Given the description of an element on the screen output the (x, y) to click on. 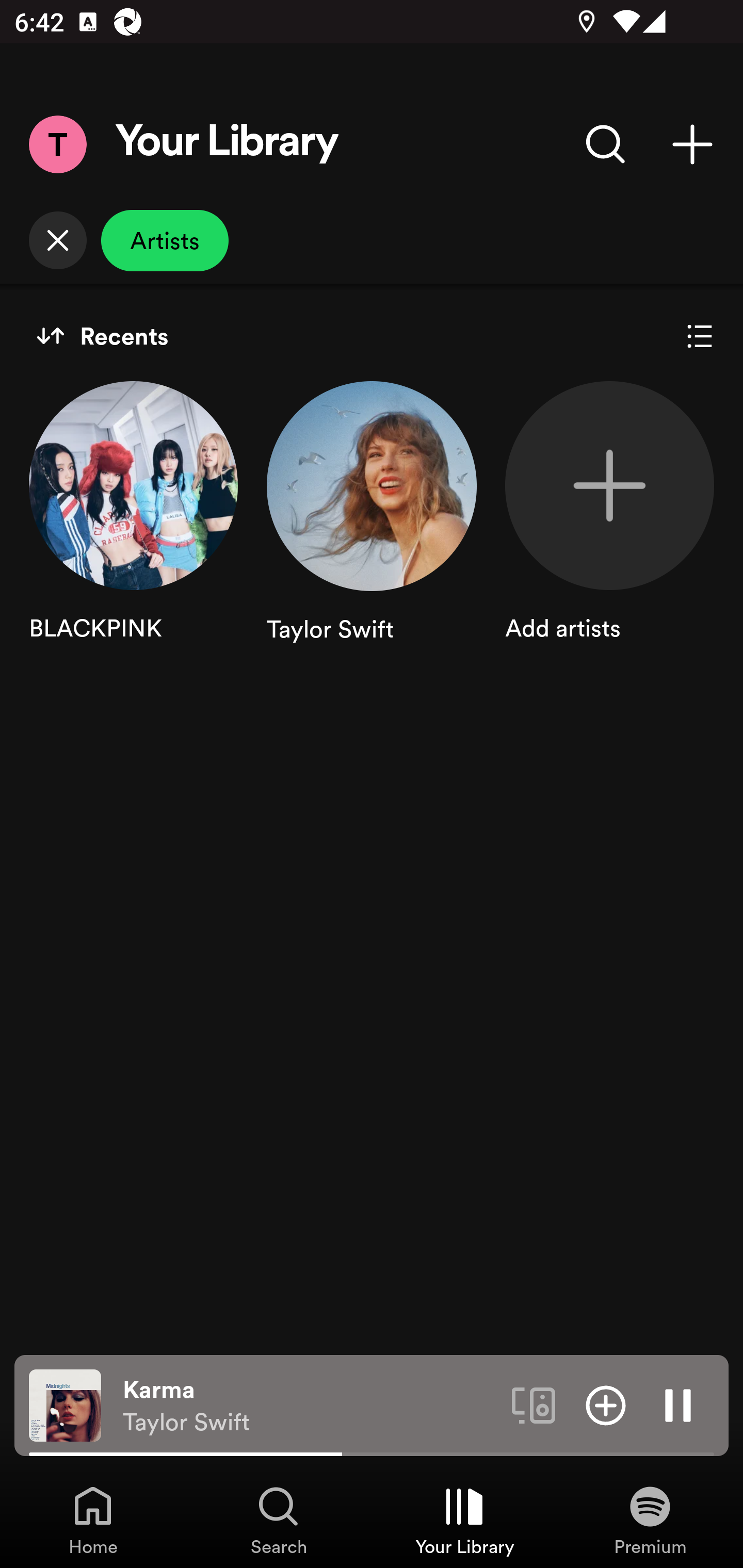
Menu (57, 144)
Search Your Library (605, 144)
Create playlist (692, 144)
Your Library Your Library Heading (226, 144)
Clear Filters (57, 240)
Artists, show only artists. (164, 240)
Recents (101, 336)
Show List view (699, 336)
BLACKPINK,  BLACKPINK (132, 531)
Taylor Swift,  Taylor Swift (371, 531)
Add artists,  Add artists (609, 531)
Karma Taylor Swift (309, 1405)
The cover art of the currently playing track (64, 1404)
Connect to a device. Opens the devices menu (533, 1404)
Add item (605, 1404)
Pause (677, 1404)
Home, Tab 1 of 4 Home Home (92, 1519)
Search, Tab 2 of 4 Search Search (278, 1519)
Your Library, Tab 3 of 4 Your Library Your Library (464, 1519)
Premium, Tab 4 of 4 Premium Premium (650, 1519)
